Given the description of an element on the screen output the (x, y) to click on. 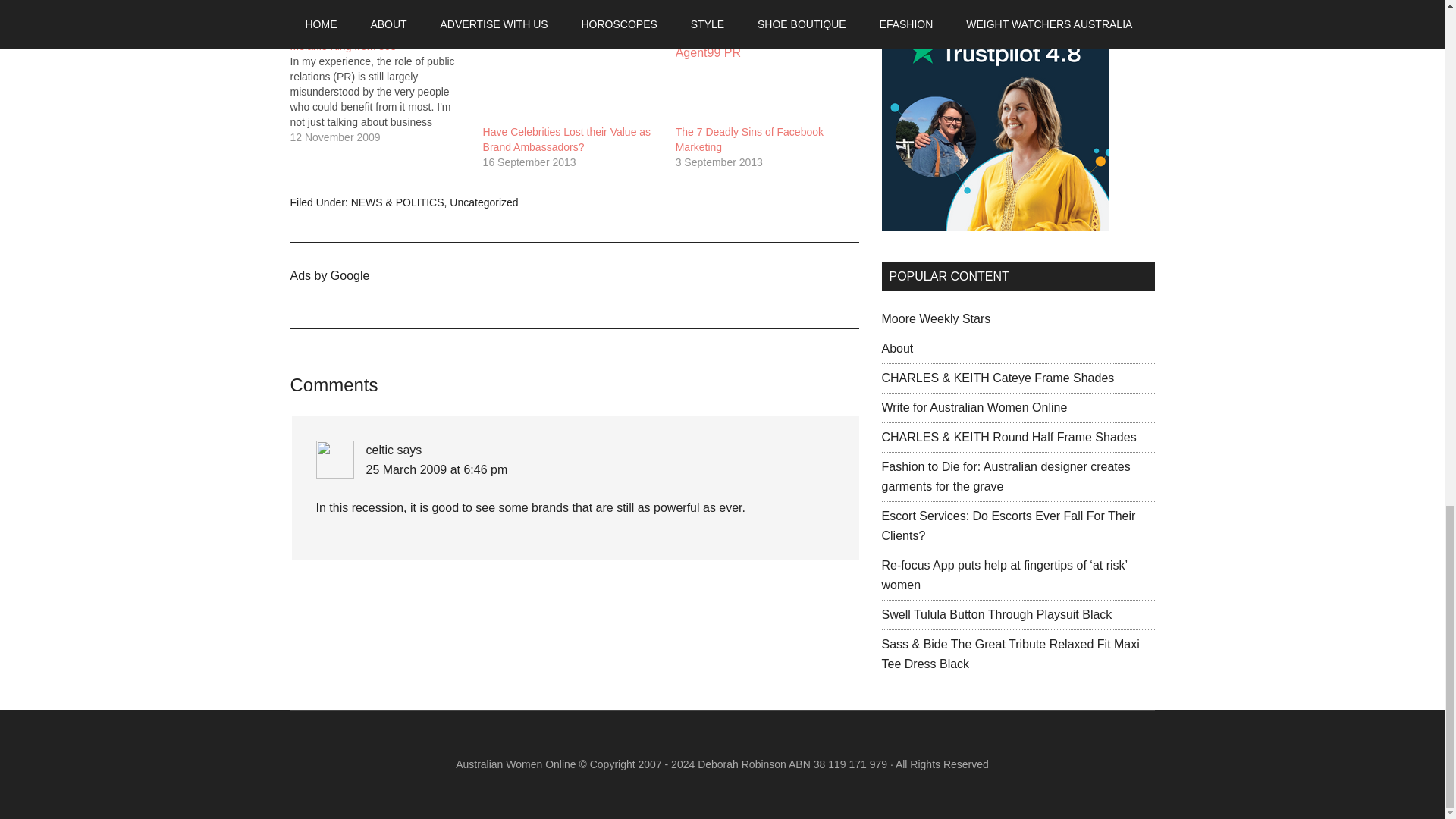
The 7 Deadly Sins of Facebook Marketing (749, 139)
Have Celebrities Lost their Value as Brand Ambassadors? (566, 139)
Understanding Public Relations with Melanie King from 303 (385, 83)
The 7 Deadly Sins of Facebook Marketing (764, 74)
Have Celebrities Lost their Value as Brand Ambassadors? (572, 74)
Understanding Public Relations with Melanie King from 303 (374, 38)
